Given the description of an element on the screen output the (x, y) to click on. 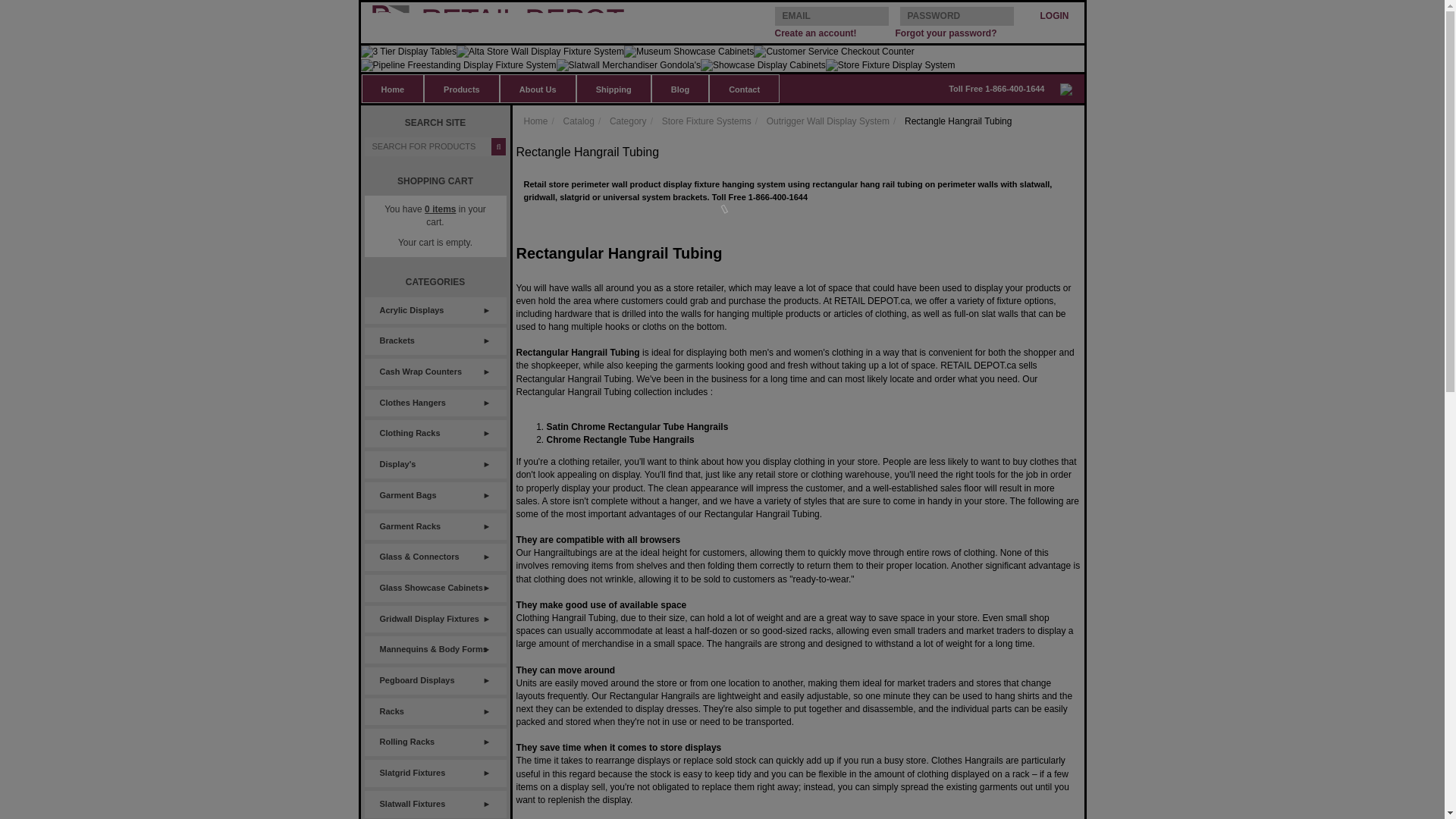
Clothes Hangers (434, 402)
Forgot your password? (945, 32)
Products (462, 89)
Acrylic Displays (434, 310)
Retail Depot.ca (514, 20)
Glass Showcase Cabinets (434, 587)
Gridwall Display Fixtures (434, 619)
Create an account! (815, 32)
Shipping (613, 89)
Slatgrid Fixtures (434, 773)
